Given the description of an element on the screen output the (x, y) to click on. 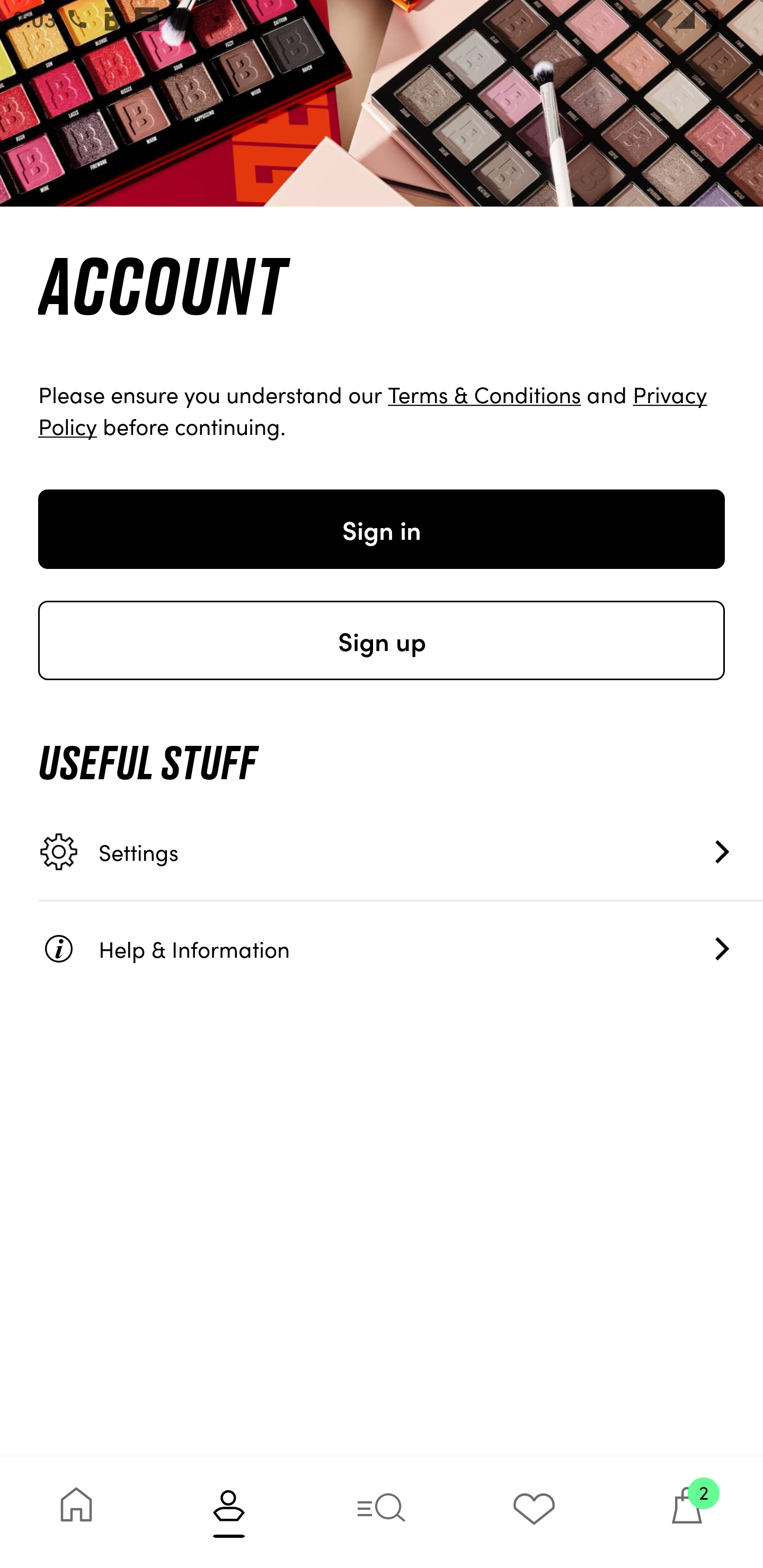
Sign in (381, 529)
Sign up (381, 640)
Settings (400, 852)
Help & Information (400, 948)
2 (686, 1512)
